Given the description of an element on the screen output the (x, y) to click on. 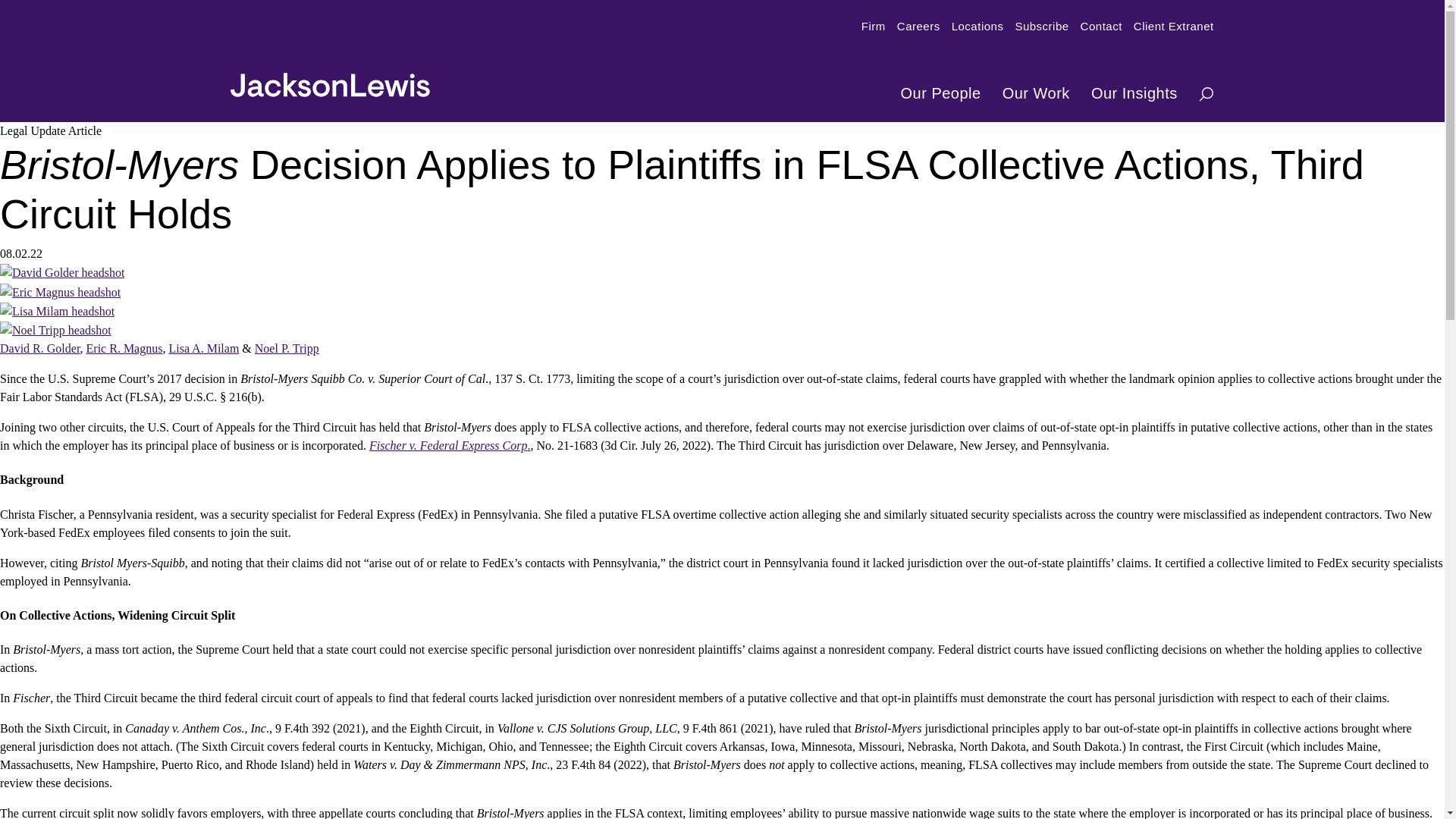
Our People (936, 93)
Subscribe (1035, 26)
Our Insights (1129, 93)
Noel P. Tripp (286, 348)
button - dots (1198, 93)
Our Work (1031, 93)
Locations (972, 26)
Eric R. Magnus (124, 348)
Contact (1095, 26)
Firm (867, 26)
